Given the description of an element on the screen output the (x, y) to click on. 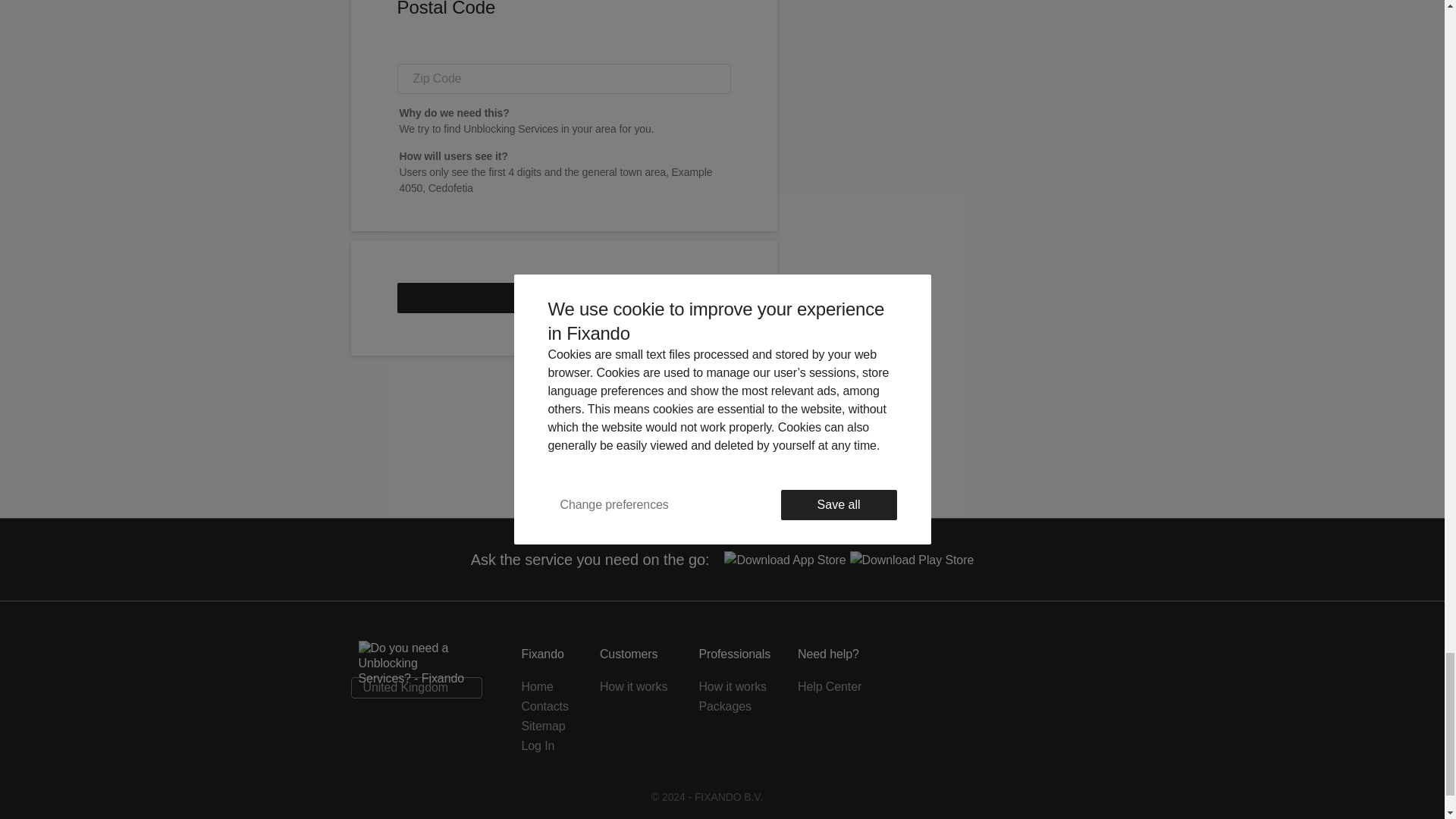
Unclog Toilet (606, 436)
Next (564, 297)
United Kingdom (415, 687)
Contacts (548, 706)
Pipes (854, 436)
Decontamination (699, 436)
Unblocking (789, 436)
Home (548, 686)
